Given the description of an element on the screen output the (x, y) to click on. 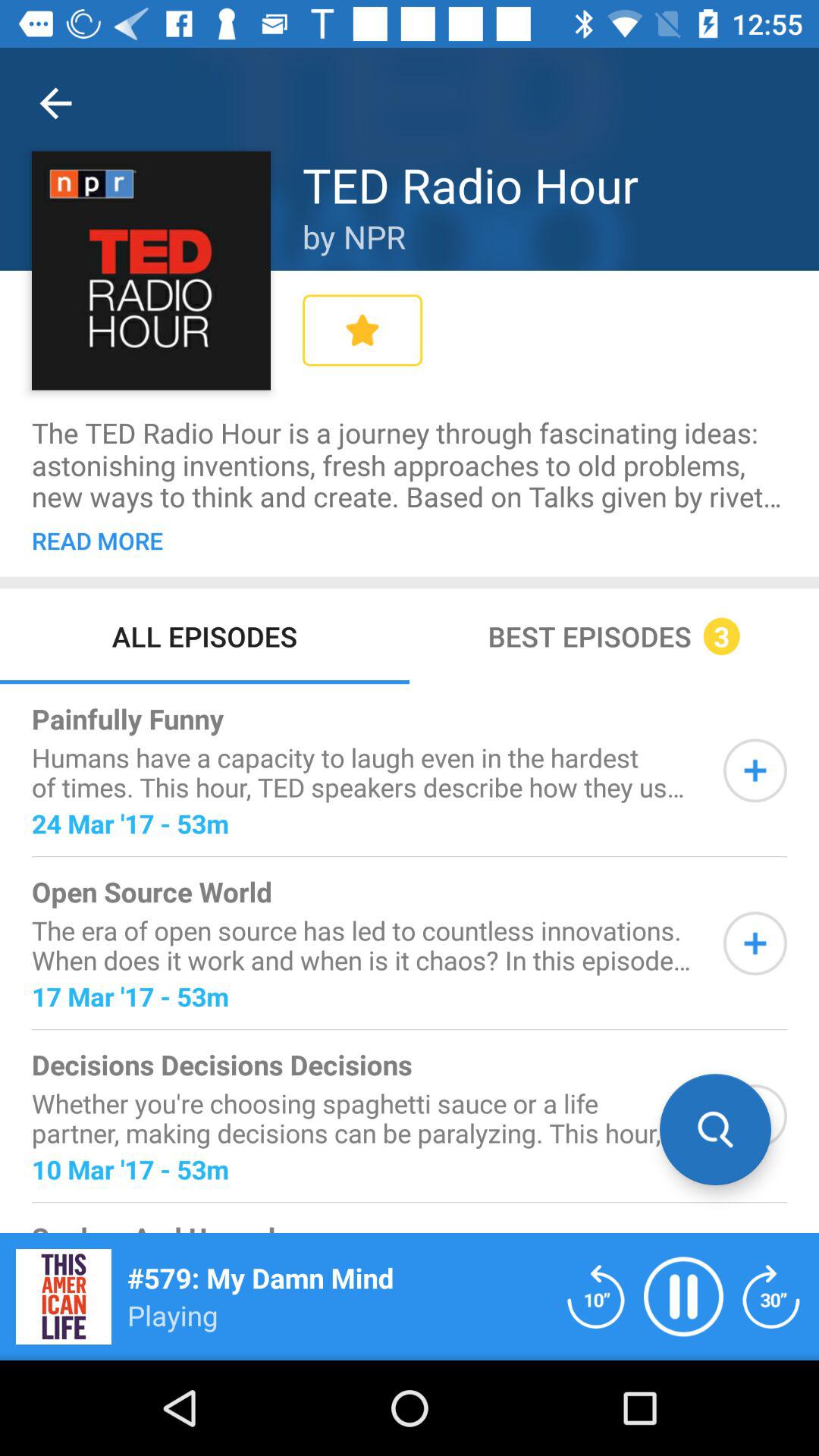
adding button (755, 943)
